Given the description of an element on the screen output the (x, y) to click on. 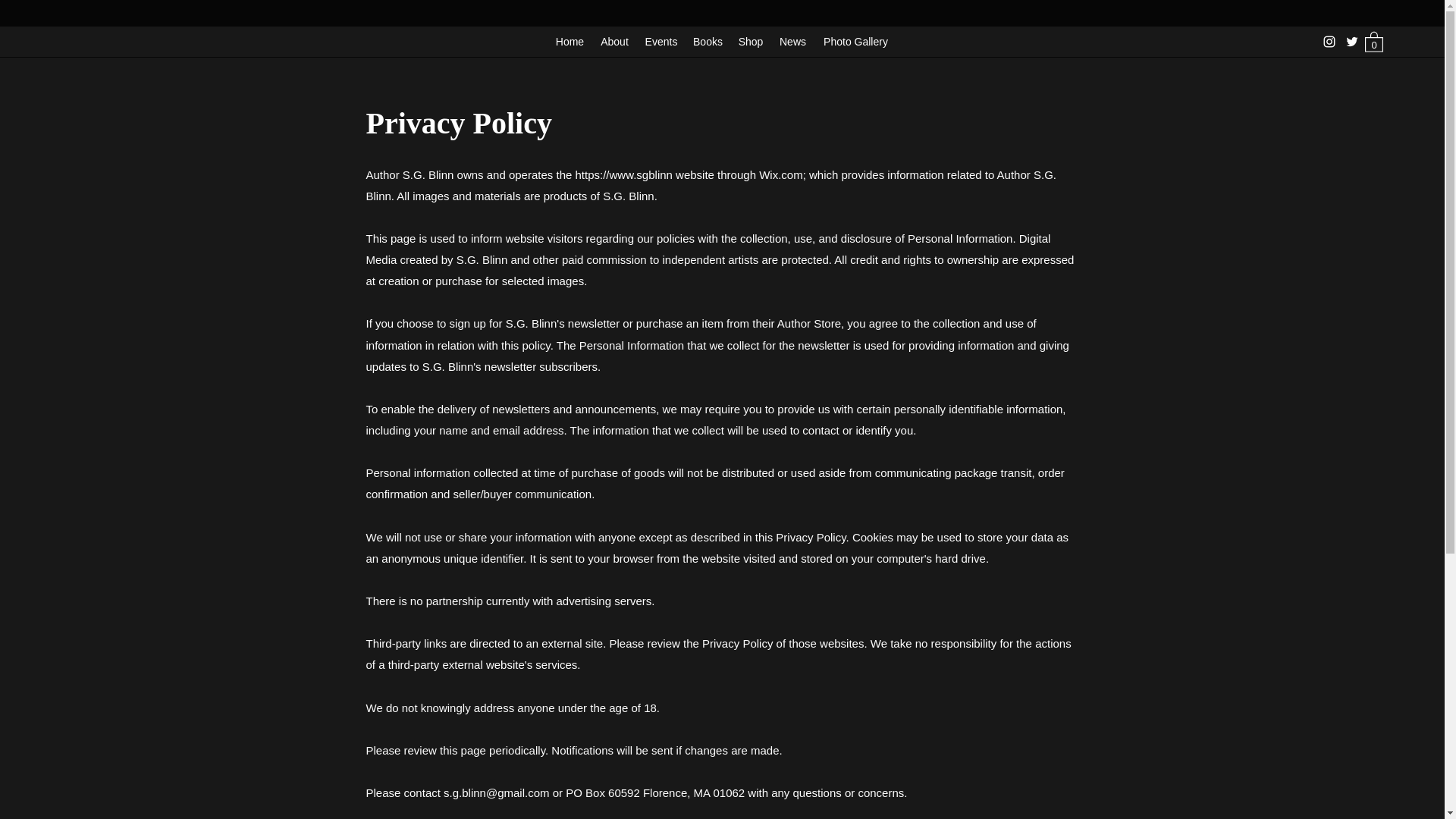
Books (707, 41)
About (614, 41)
Shop (750, 41)
News (792, 41)
Events (661, 41)
Photo Gallery (854, 41)
Home (569, 41)
